Given the description of an element on the screen output the (x, y) to click on. 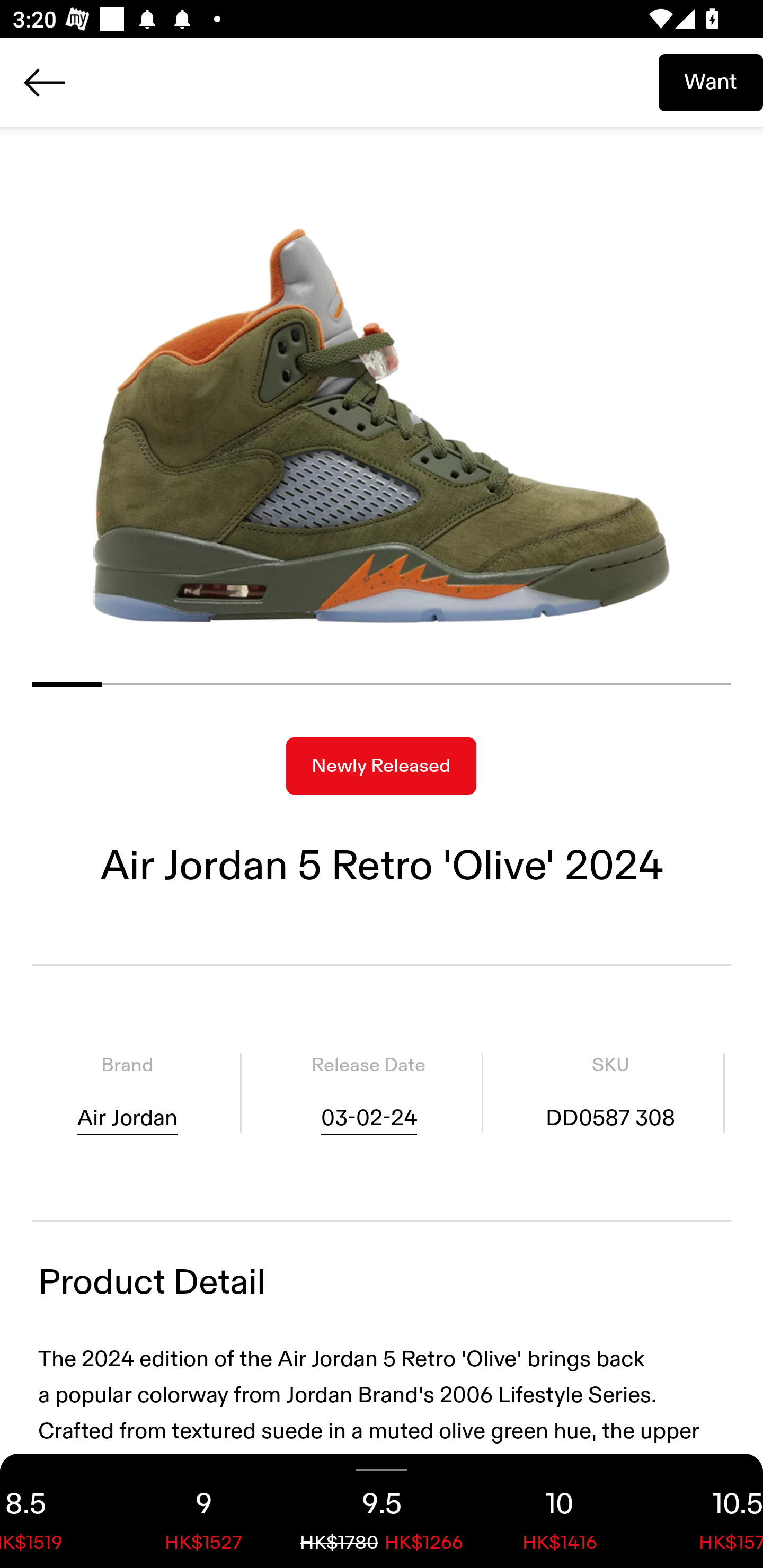
Want (710, 82)
Newly Released (381, 765)
Brand Air Jordan (126, 1092)
Release Date 03-02-24 (368, 1092)
SKU DD0587 308 (609, 1092)
8.5 HK$1519 (57, 1510)
9 HK$1527 (203, 1510)
9.5 HK$1780 HK$1266 (381, 1510)
10 HK$1416 (559, 1510)
10.5 HK$1574 (705, 1510)
